Given the description of an element on the screen output the (x, y) to click on. 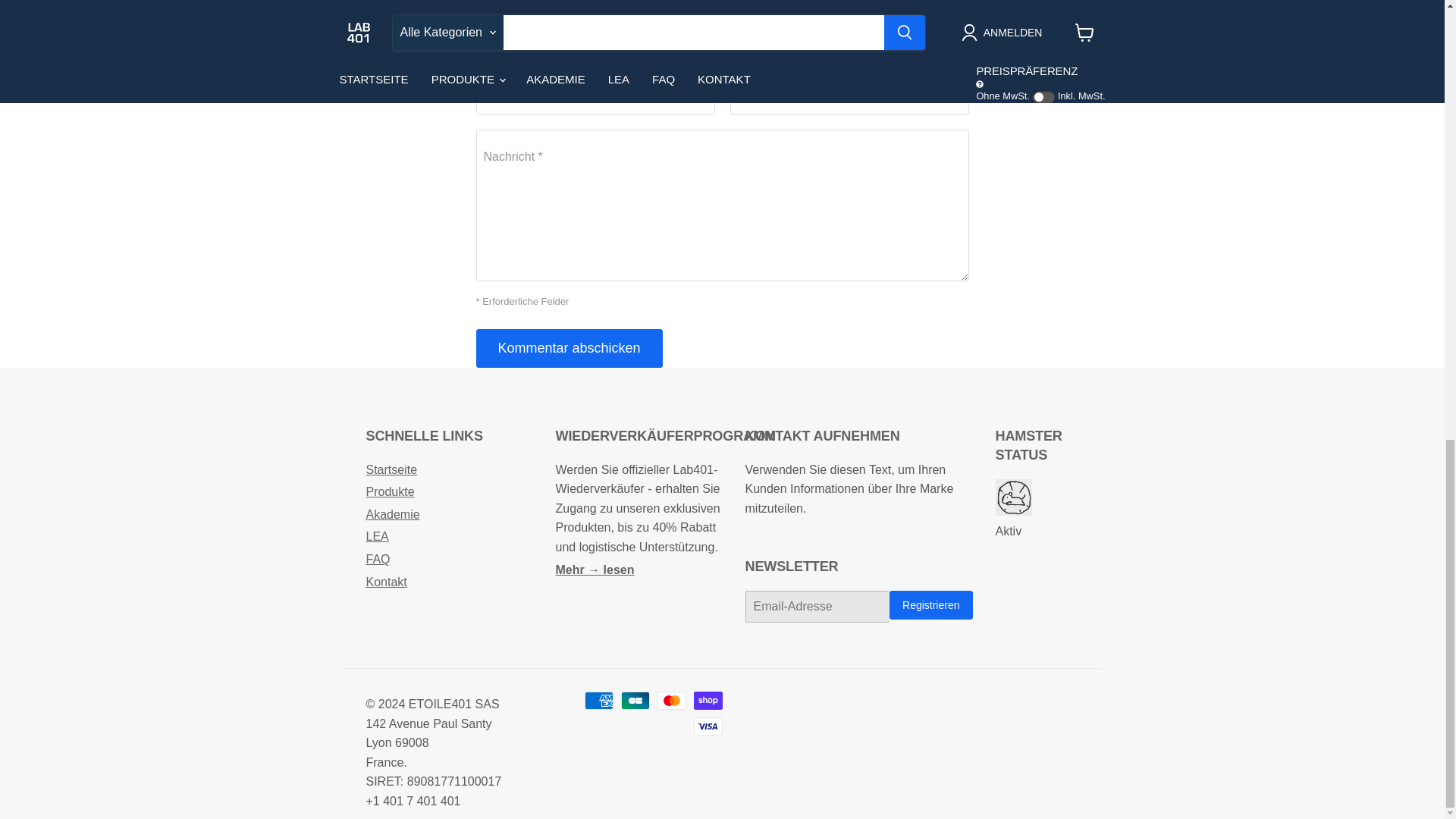
Cartes Bancaires (634, 700)
Mastercard (670, 700)
Visa (707, 726)
American Express (597, 700)
Shop Pay (707, 700)
